Given the description of an element on the screen output the (x, y) to click on. 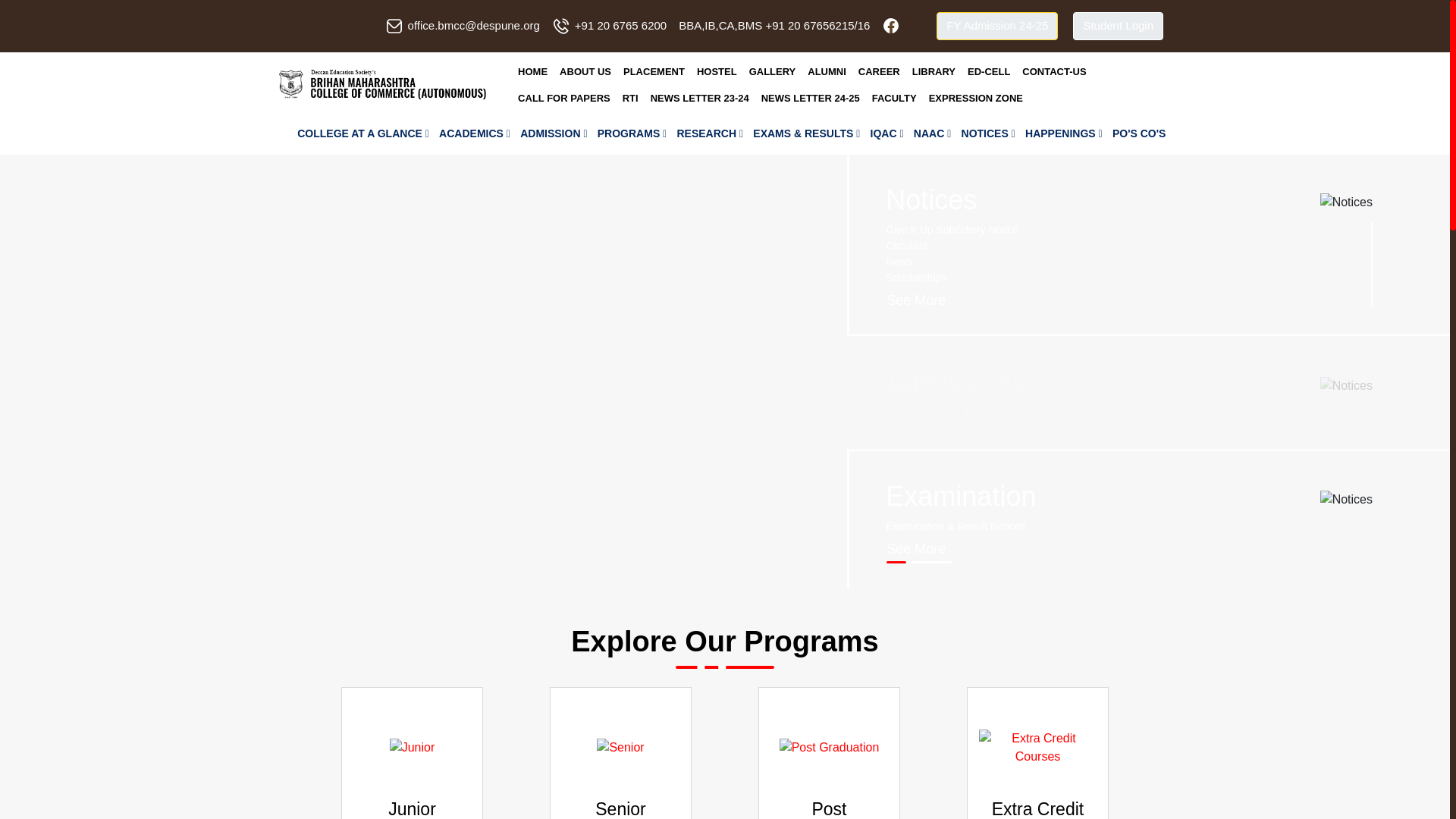
HOSTEL (716, 71)
FACULTY (894, 98)
HOME (532, 71)
GALLERY (772, 71)
CALL FOR PAPERS (563, 98)
Student Login (1117, 26)
EXPRESSION ZONE (976, 98)
NEWS LETTER 24-25 (810, 98)
CONTACT-US (1054, 71)
LIBRARY (932, 71)
